Given the description of an element on the screen output the (x, y) to click on. 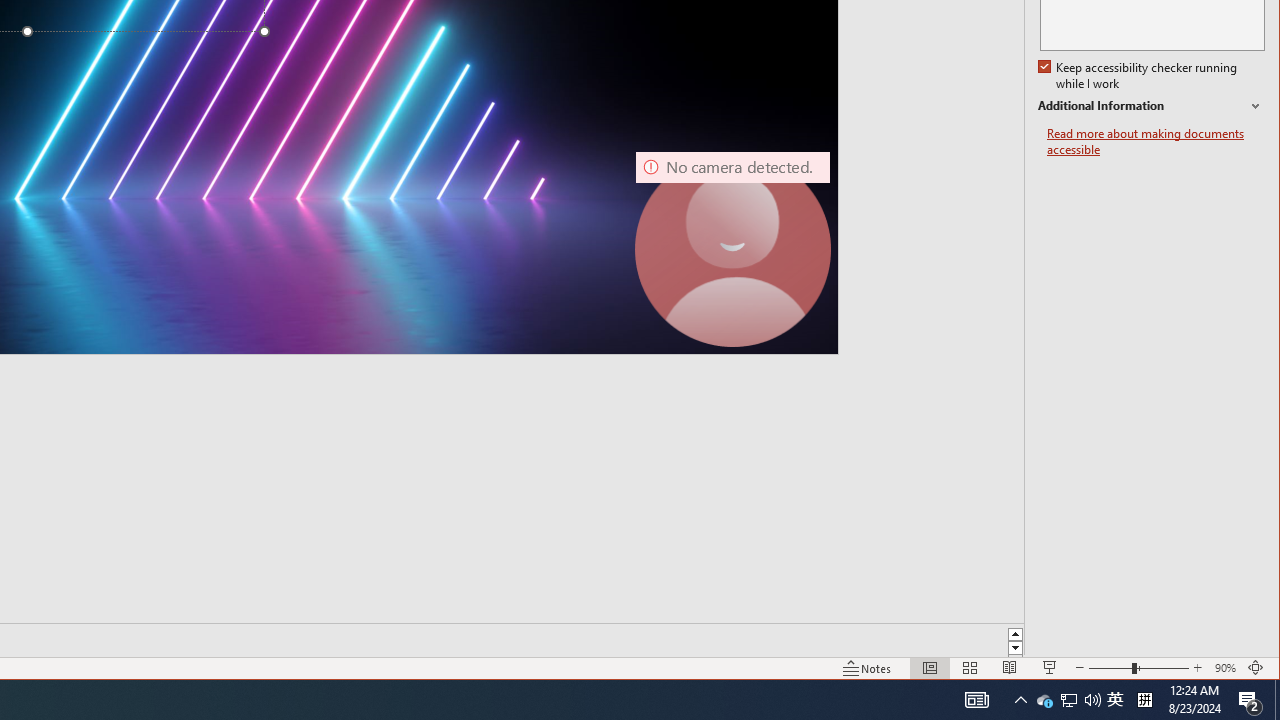
Zoom 90% (1225, 668)
Read more about making documents accessible (1155, 142)
Action Center, 2 new notifications (1250, 699)
